Given the description of an element on the screen output the (x, y) to click on. 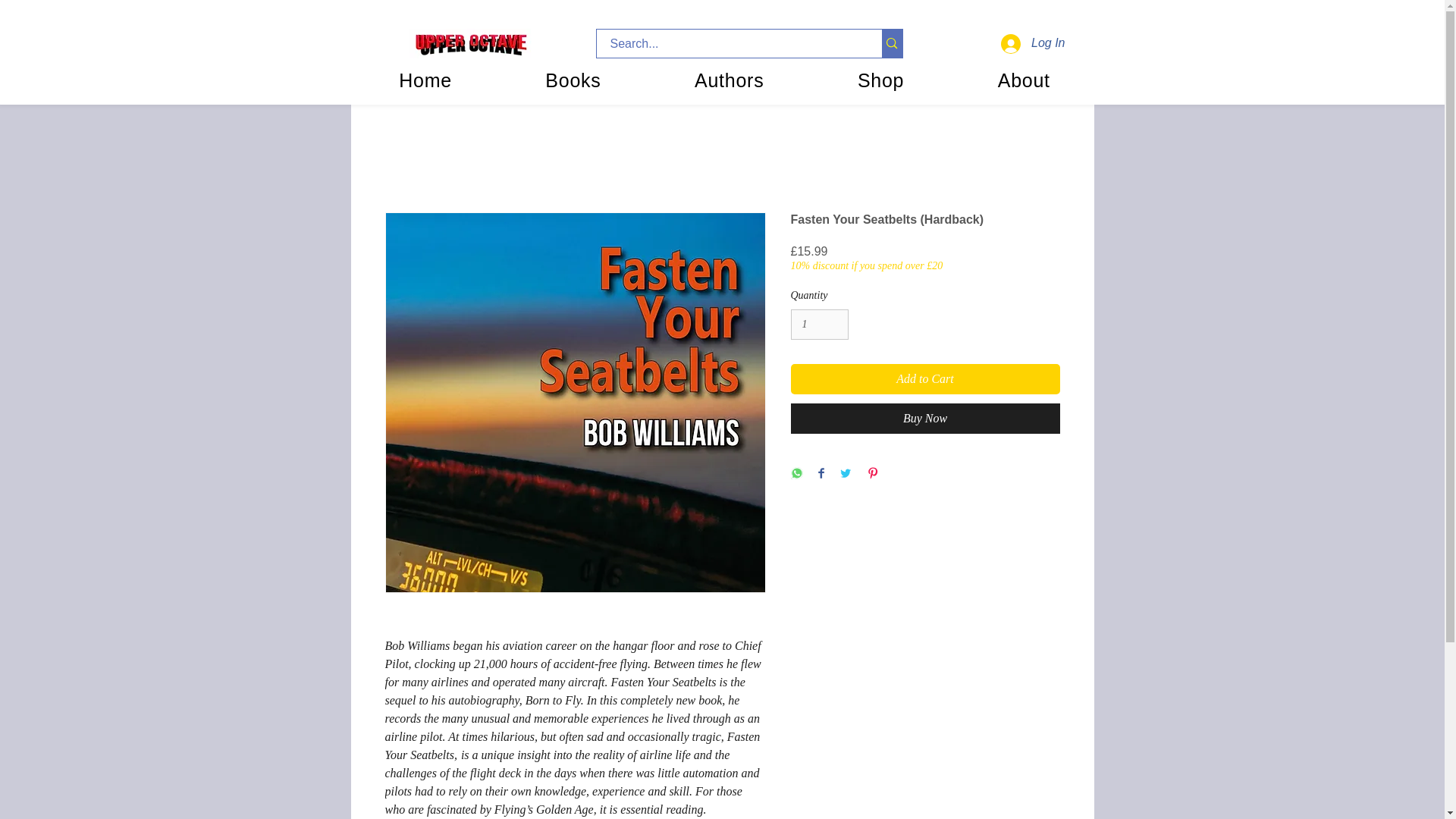
Log In (1032, 42)
Home (425, 80)
1 (818, 324)
